Given the description of an element on the screen output the (x, y) to click on. 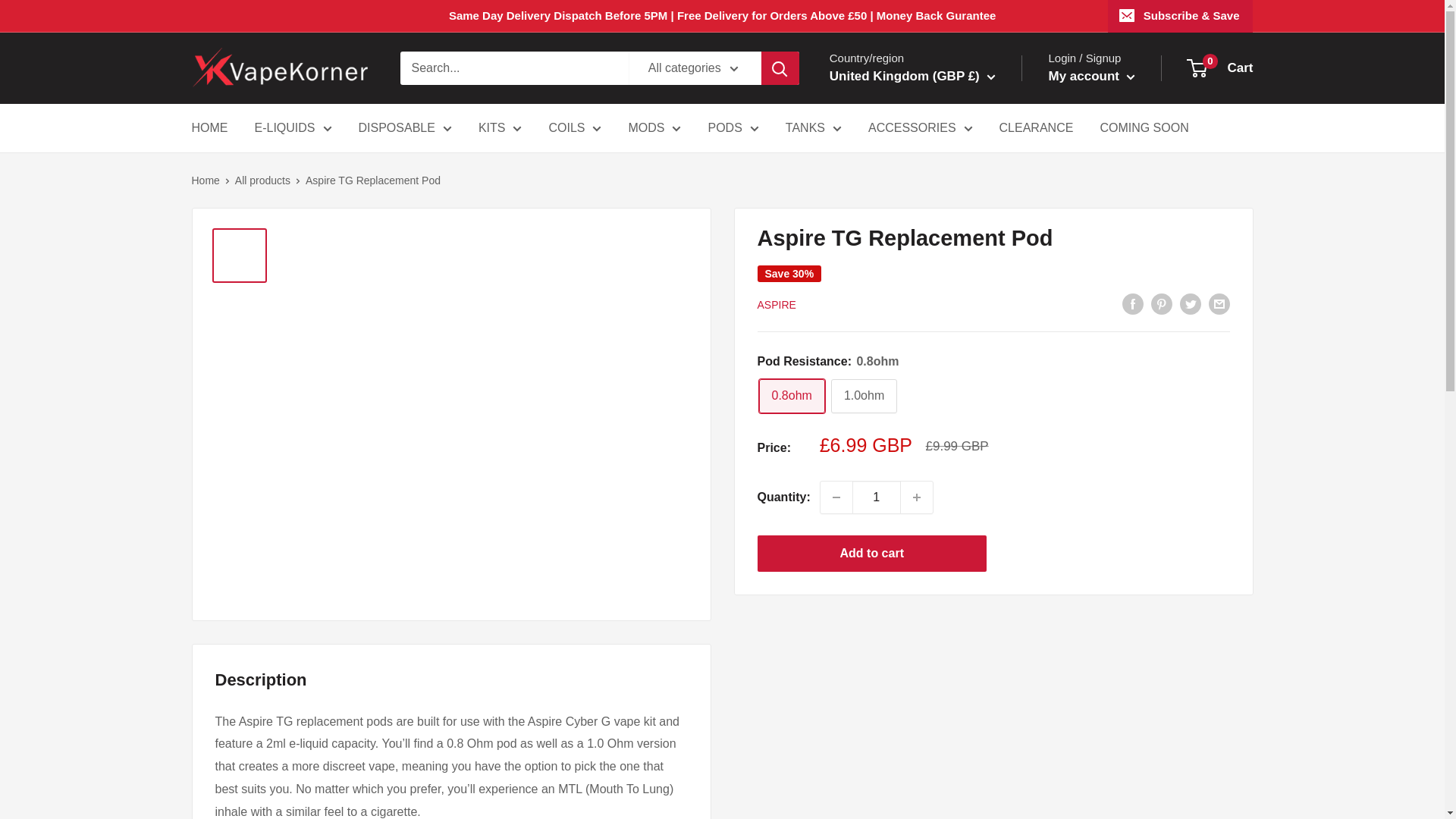
1 (876, 497)
1.0ohm (863, 396)
Increase quantity by 1 (917, 497)
Decrease quantity by 1 (836, 497)
0.8ohm (791, 396)
